Given the description of an element on the screen output the (x, y) to click on. 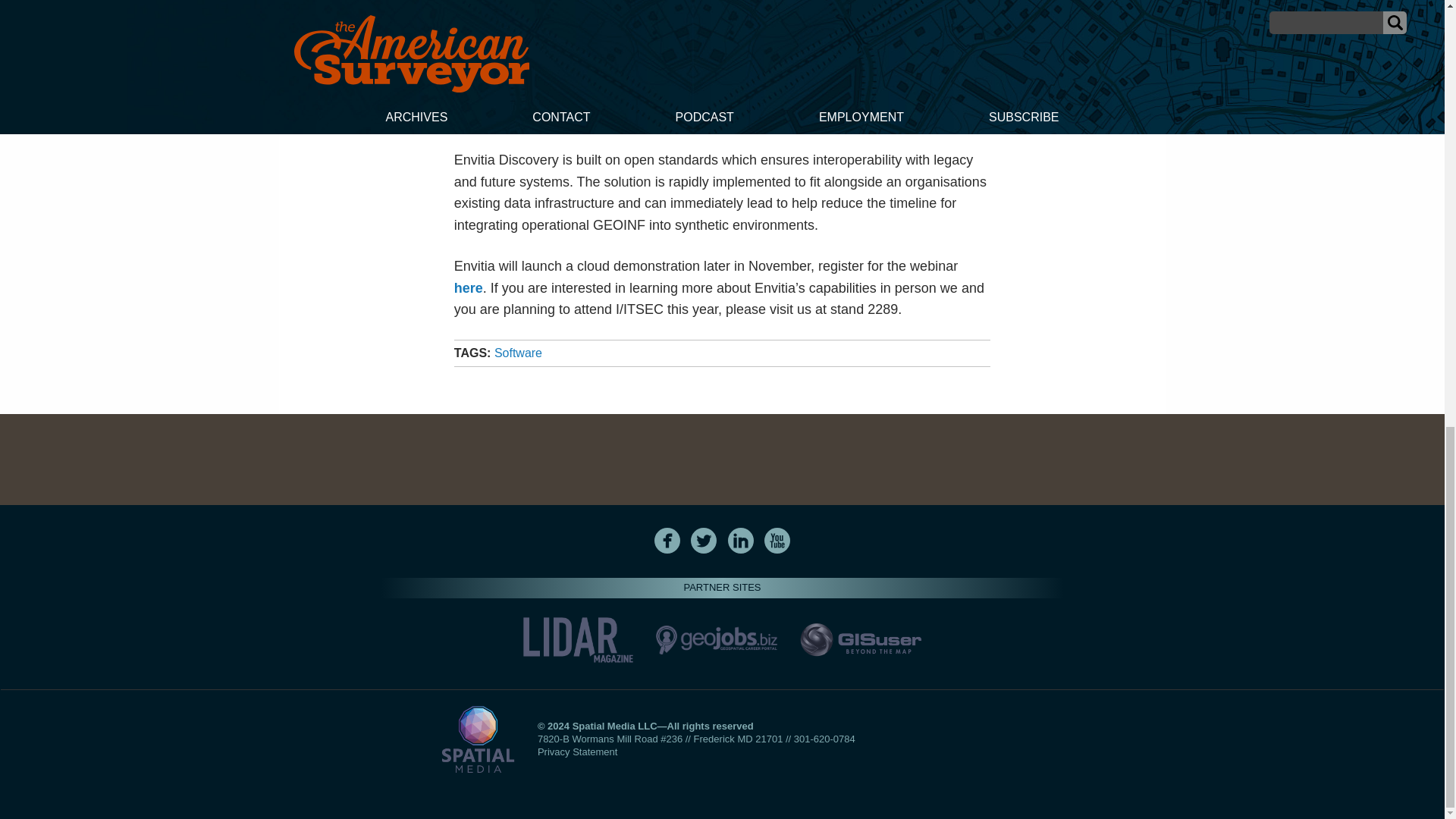
icon-sm-youtube (777, 540)
icon-sm-linkedin (740, 540)
icon-sm-twitter (703, 540)
here (468, 287)
icon-sm-fb (667, 540)
icon-sm-youtube (776, 540)
icon-sm-linkedin (741, 540)
icon-sm-twitter (703, 540)
3rd party ad content (721, 459)
Privacy Statement (577, 751)
